Given the description of an element on the screen output the (x, y) to click on. 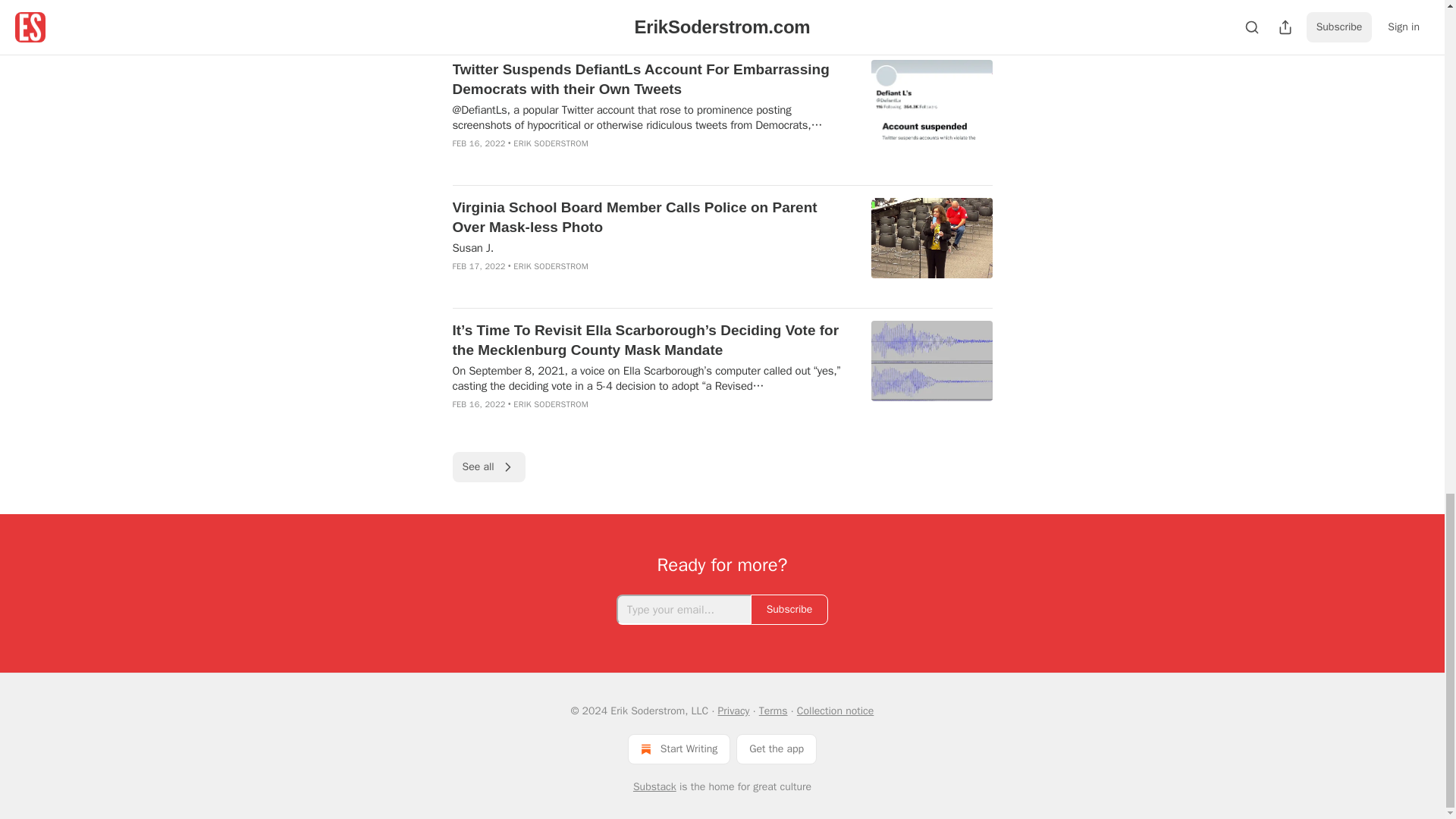
Latest (518, 26)
Top (471, 26)
ERIK SODERSTROM (550, 143)
